Given the description of an element on the screen output the (x, y) to click on. 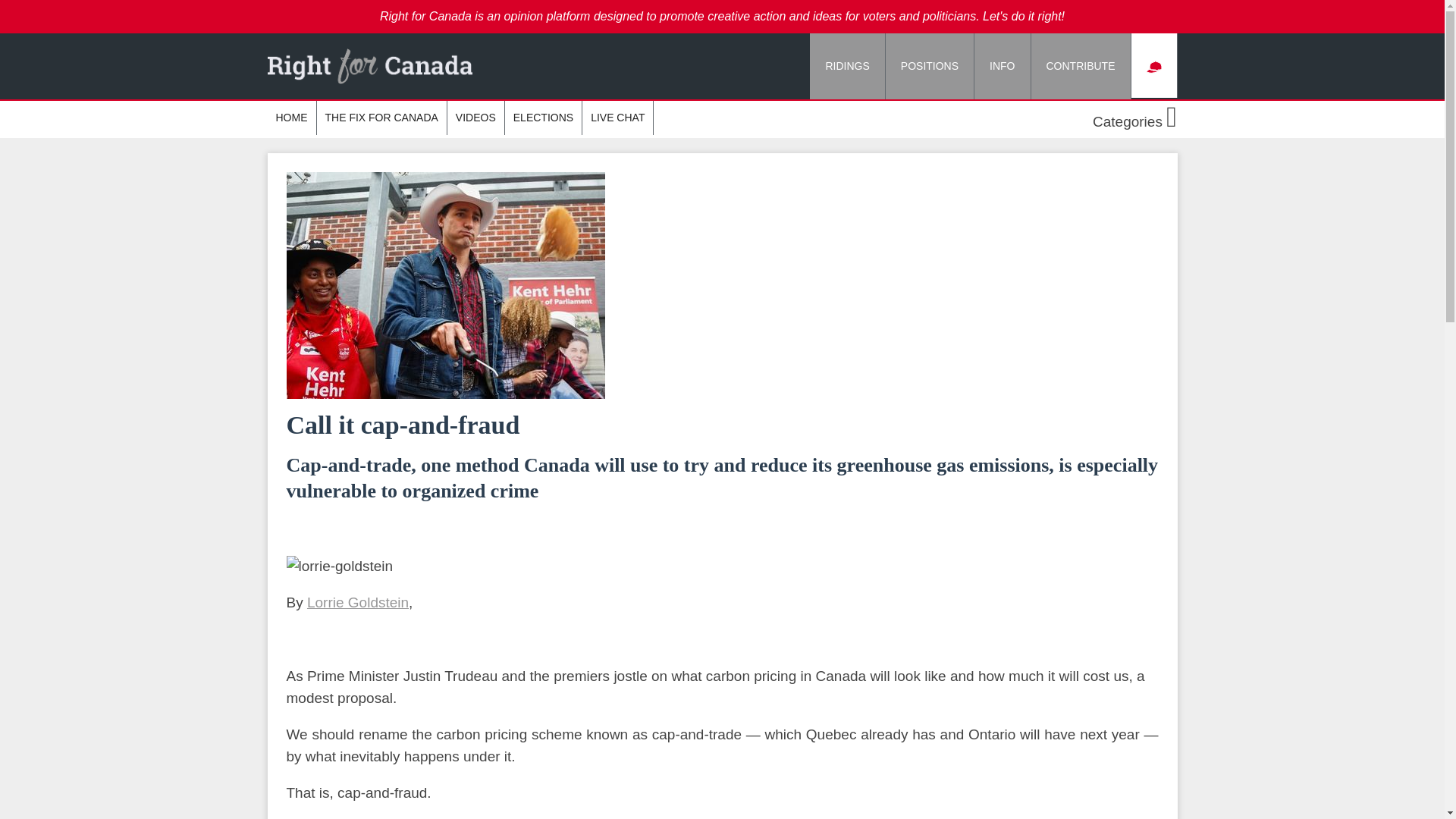
CONTRIBUTE (1080, 66)
POSITIONS (929, 66)
RIDINGS (847, 66)
